Given the description of an element on the screen output the (x, y) to click on. 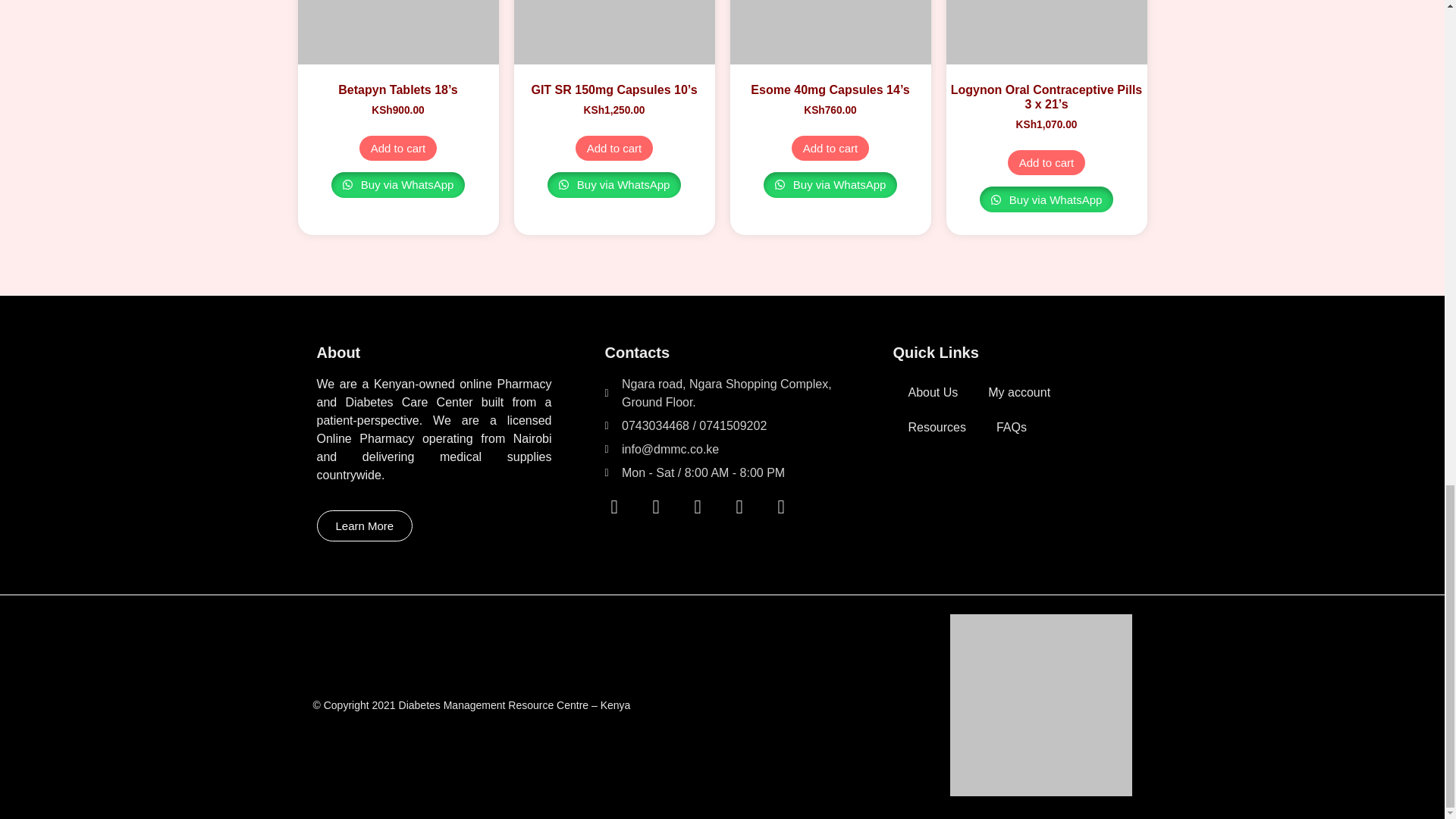
Complete order on WhatsApp to buy Esome 40mg Capsules 14's (830, 184)
Complete order on WhatsApp to buy Betapyn Tablets 18's (398, 184)
Complete order on WhatsApp to buy GIT SR 150mg Capsules 10's (614, 184)
